Given the description of an element on the screen output the (x, y) to click on. 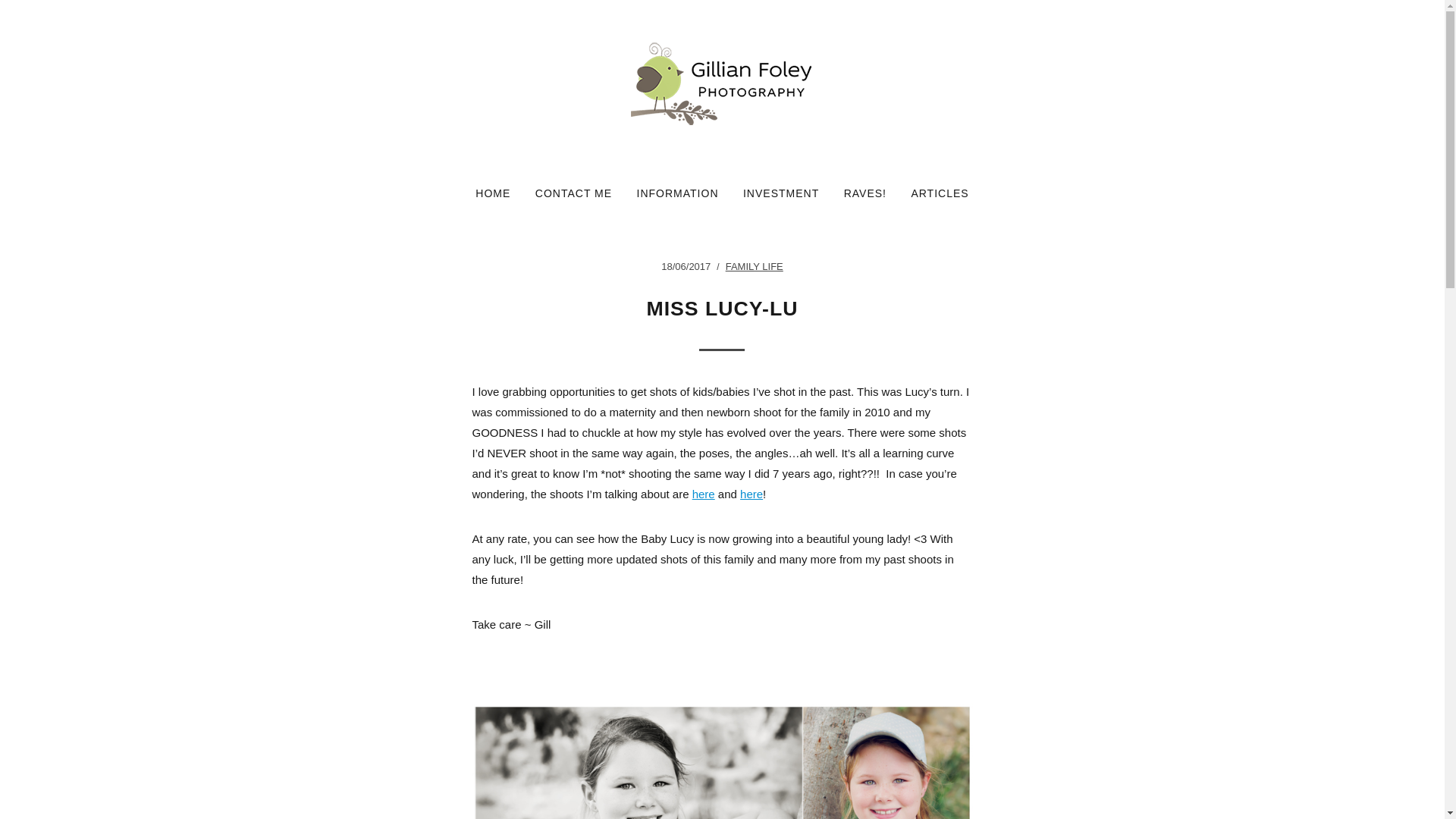
here (703, 493)
HOME (493, 193)
RAVES! (865, 193)
CONTACT ME (573, 193)
INFORMATION (677, 193)
INVESTMENT (781, 193)
ARTICLES (938, 193)
FAMILY LIFE (754, 266)
here (750, 493)
